Given the description of an element on the screen output the (x, y) to click on. 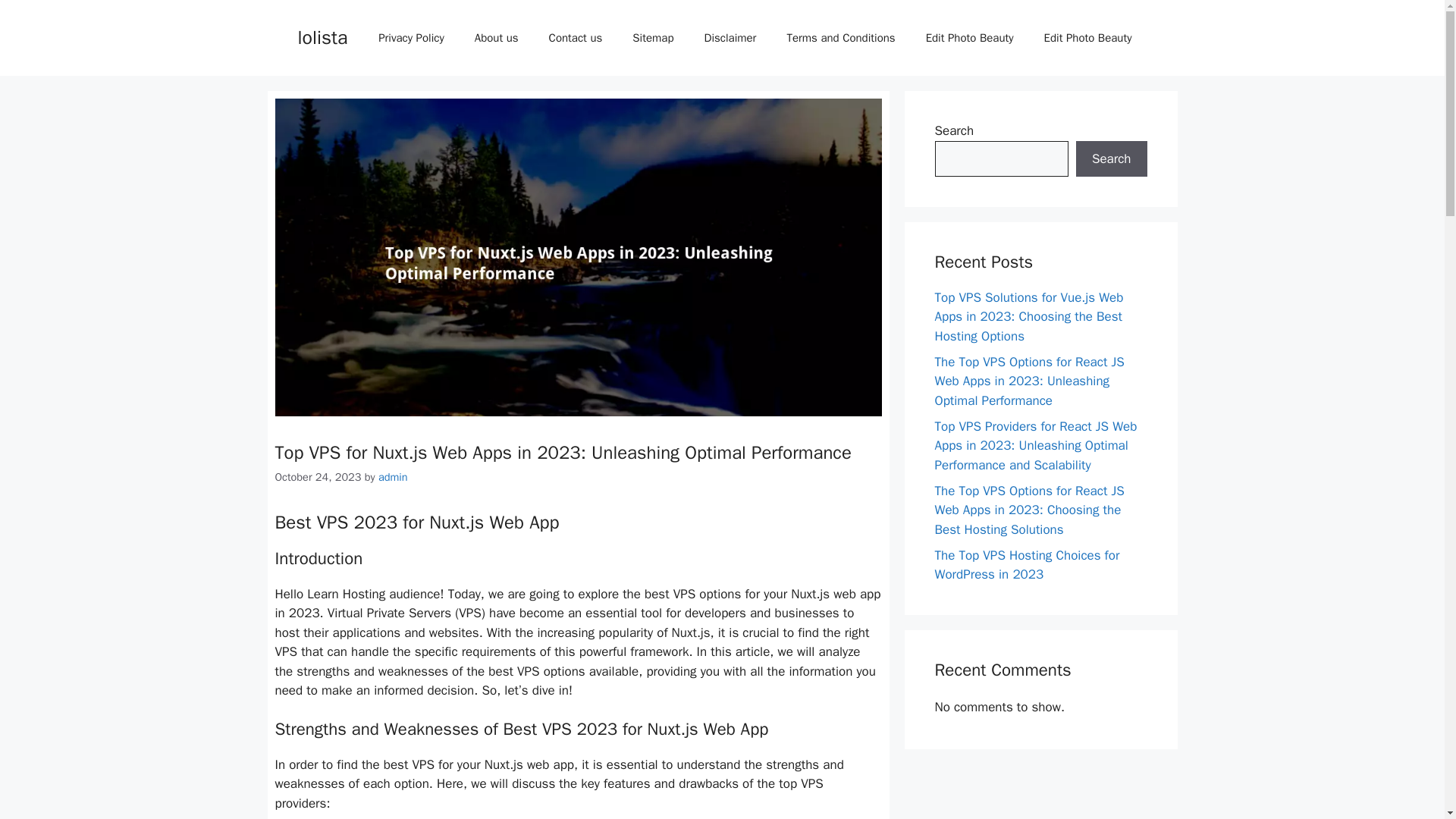
Search (1111, 158)
Privacy Policy (411, 37)
About us (497, 37)
Contact us (575, 37)
Edit Photo Beauty (1088, 37)
Sitemap (652, 37)
Edit Photo Beauty (970, 37)
View all posts by admin (392, 477)
The Top VPS Hosting Choices for WordPress in 2023 (1026, 565)
admin (392, 477)
Disclaimer (729, 37)
lolista (322, 37)
